Given the description of an element on the screen output the (x, y) to click on. 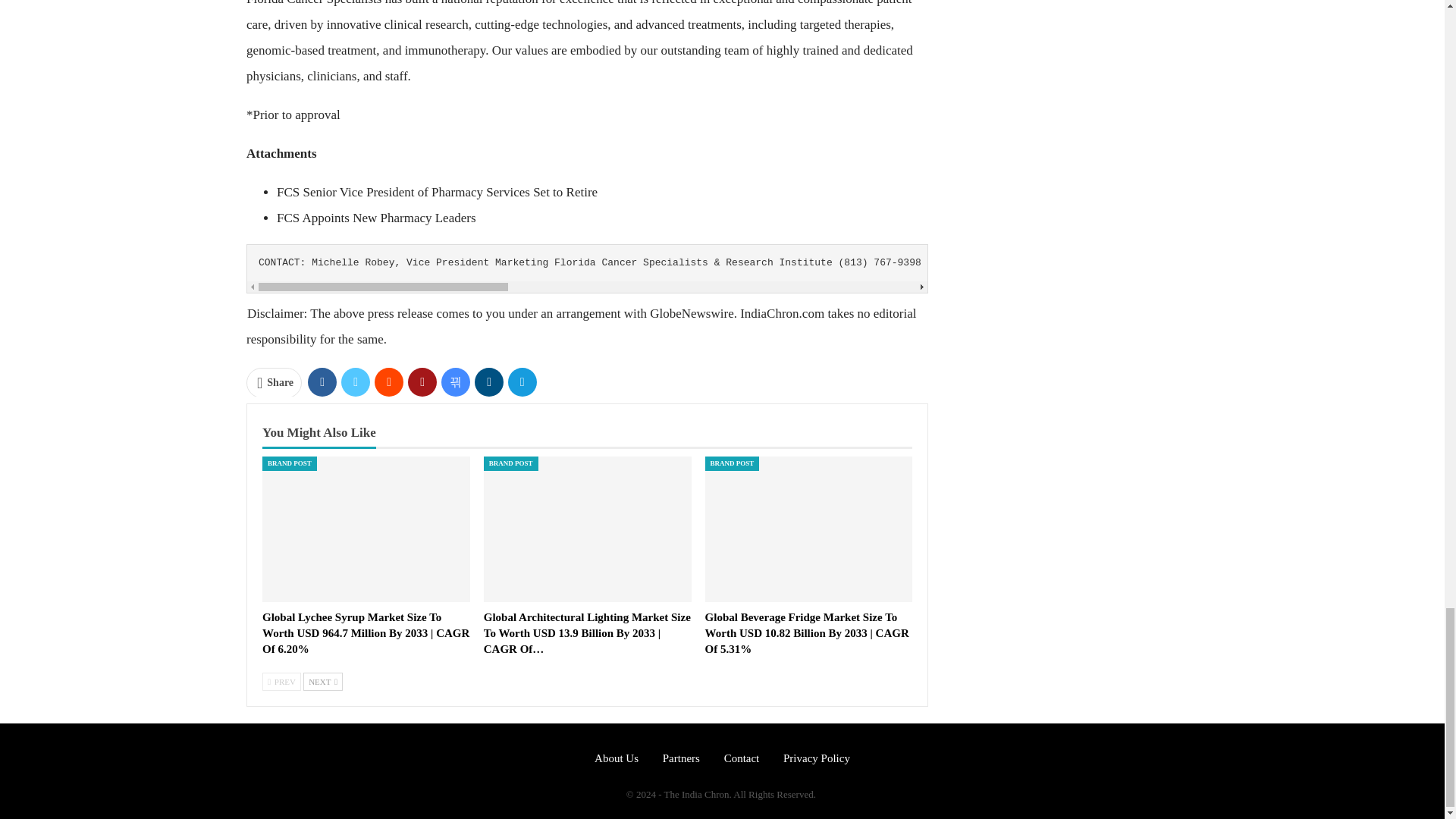
BRAND POST (732, 463)
NEXT (322, 681)
You Might Also Like (318, 431)
BRAND POST (510, 463)
BRAND POST (289, 463)
PREV (281, 681)
Previous (281, 681)
Next (322, 681)
